Given the description of an element on the screen output the (x, y) to click on. 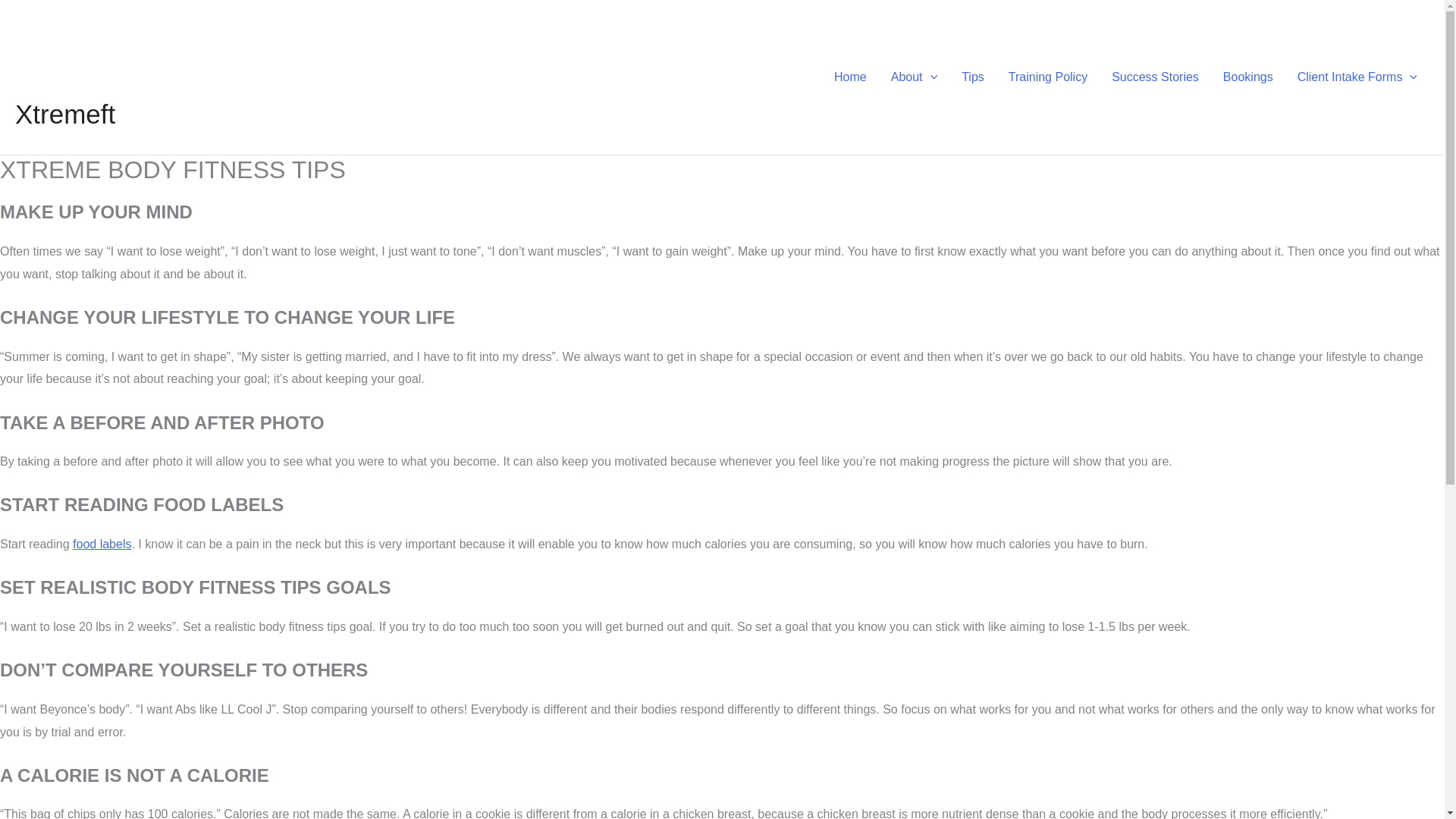
Training Policy (1047, 76)
Bookings (1248, 76)
food labels (101, 543)
Success Stories (1155, 76)
Xtremeft (64, 113)
About (914, 76)
Client Intake Forms (1357, 76)
Home (850, 76)
